Given the description of an element on the screen output the (x, y) to click on. 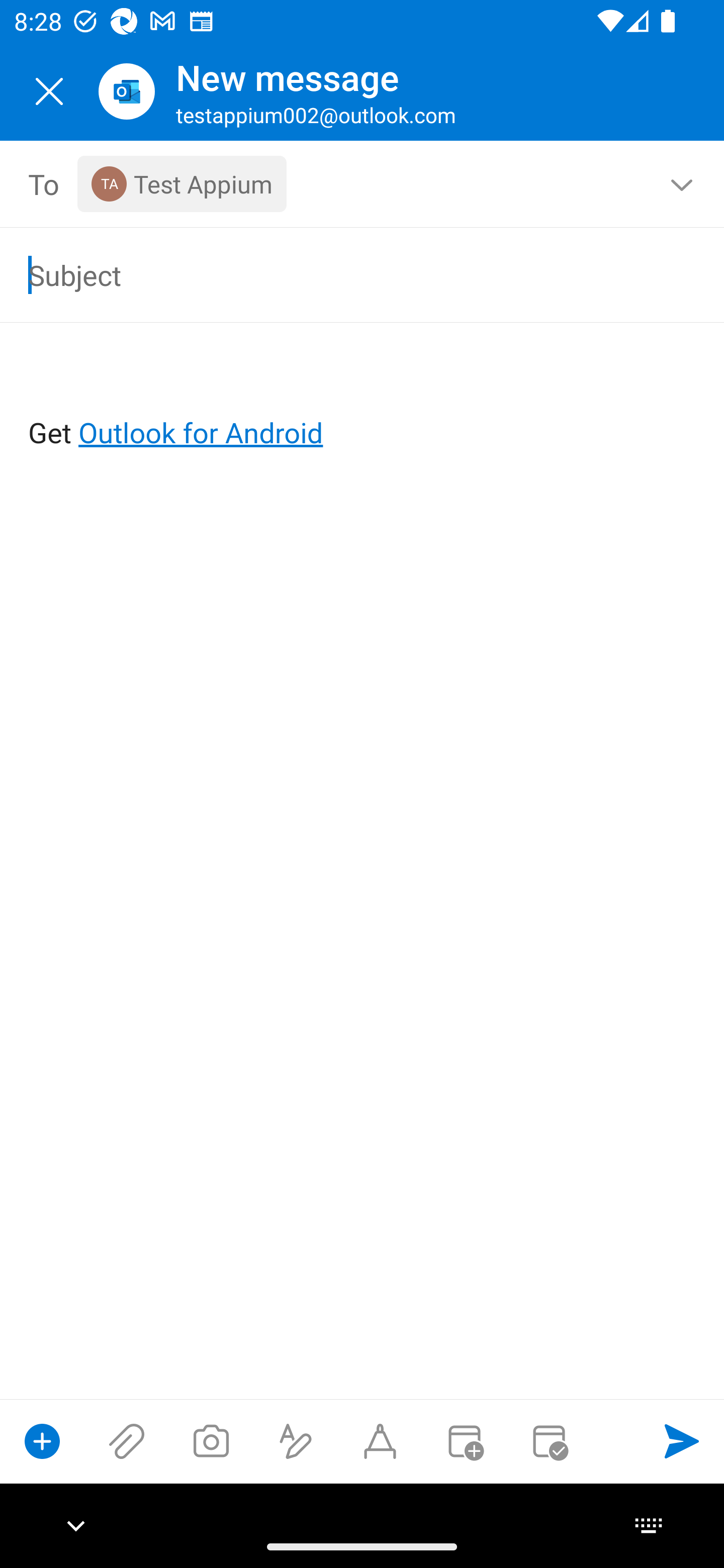
Close (49, 91)
Subject (333, 274)


Get Outlook for Android (363, 400)
Show compose options (42, 1440)
Attach files (126, 1440)
Take a photo (210, 1440)
Show formatting options (295, 1440)
Start Ink compose (380, 1440)
Convert to event (464, 1440)
Send availability (548, 1440)
Send (681, 1440)
